Given the description of an element on the screen output the (x, y) to click on. 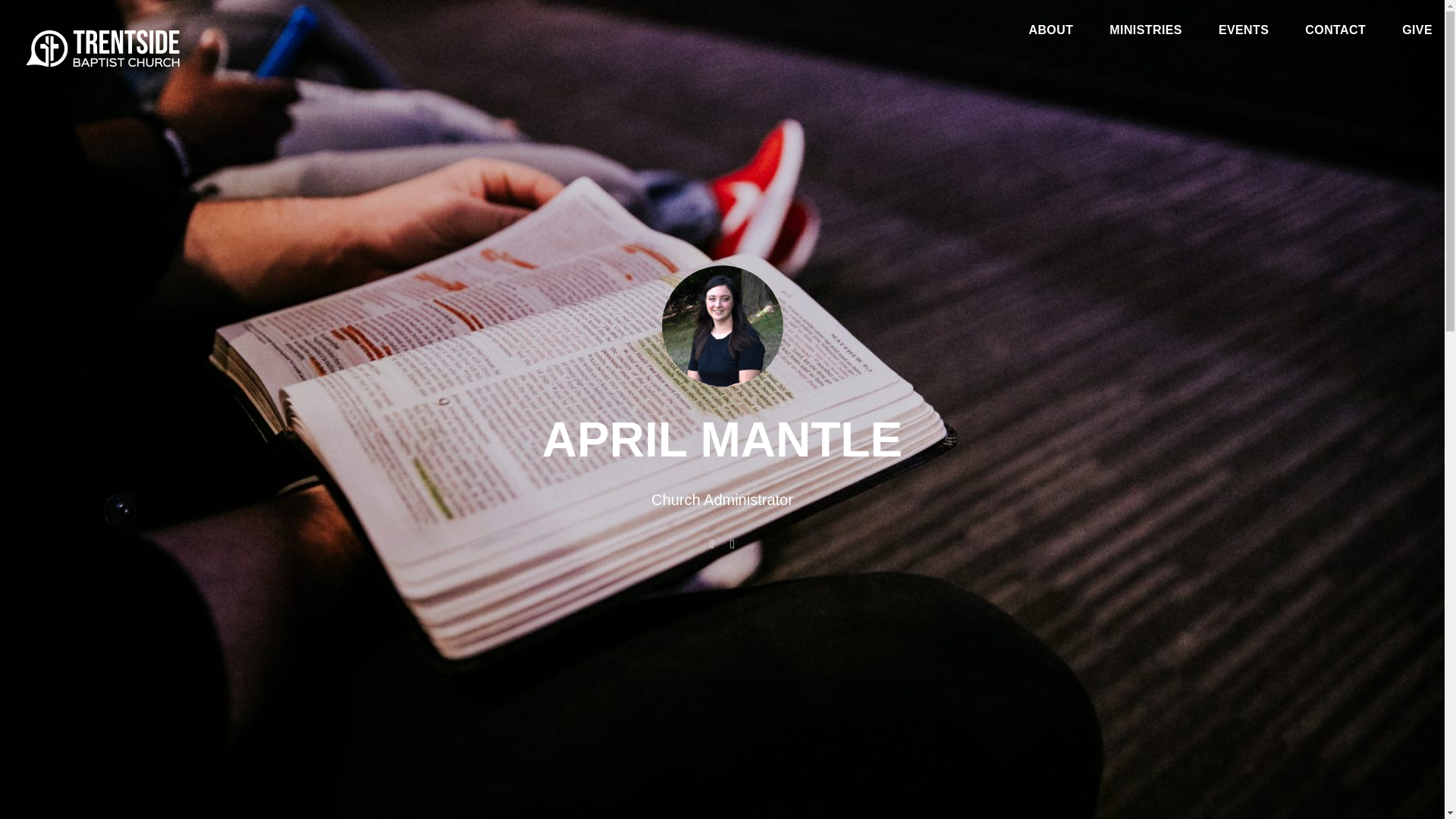
EVENTS (1243, 33)
Call APRIL MANTLE at 705-887-3228 ext. 22 (732, 543)
ABOUT (1050, 33)
CONTACT (1334, 33)
MINISTRIES (1145, 33)
Contact APRIL MANTLE via email (713, 543)
GIVE (1417, 33)
